Given the description of an element on the screen output the (x, y) to click on. 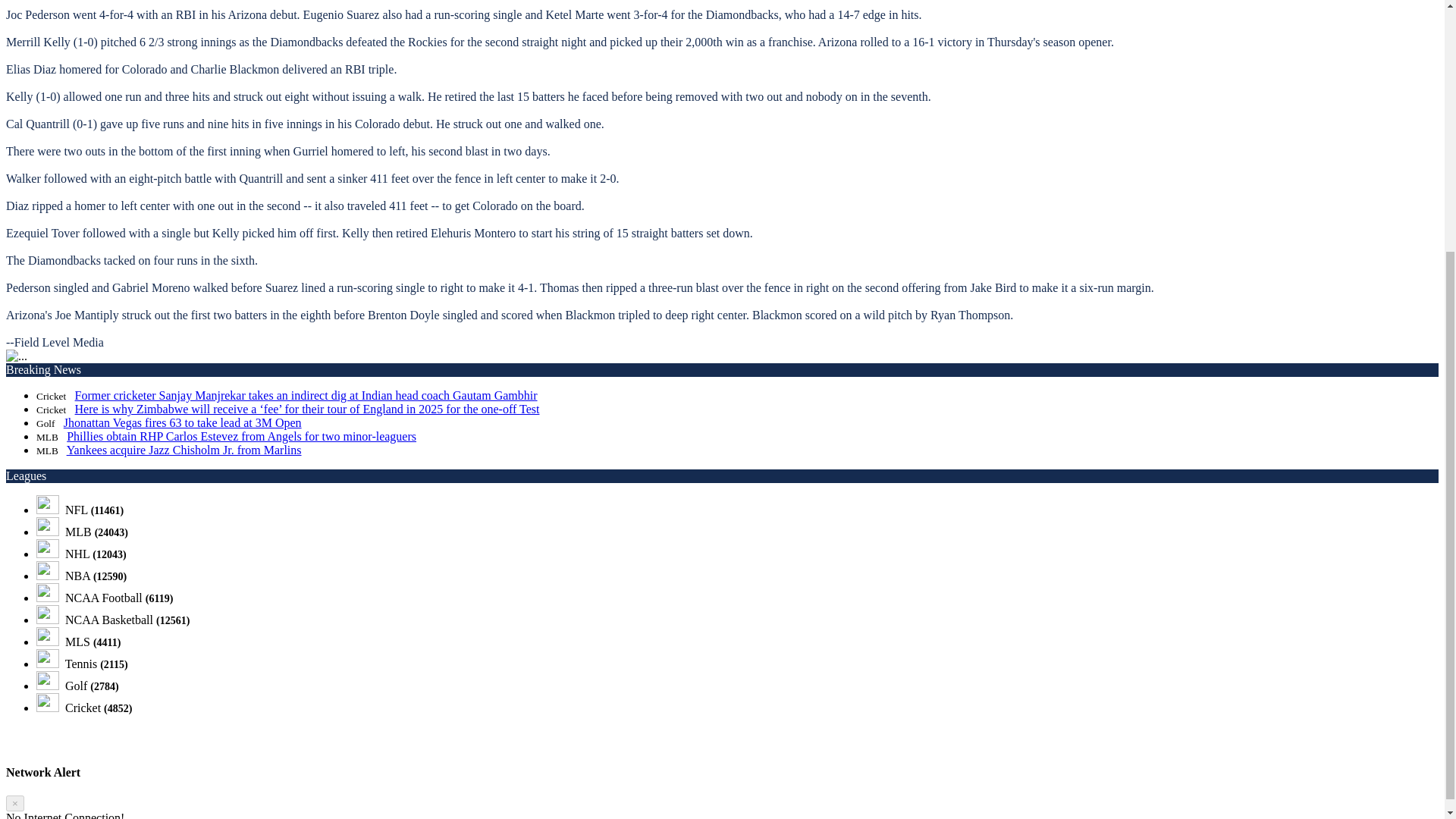
Yankees acquire Jazz Chisholm Jr. from Marlins (183, 449)
Jhonattan Vegas fires 63 to take lead at 3M Open (182, 422)
